Given the description of an element on the screen output the (x, y) to click on. 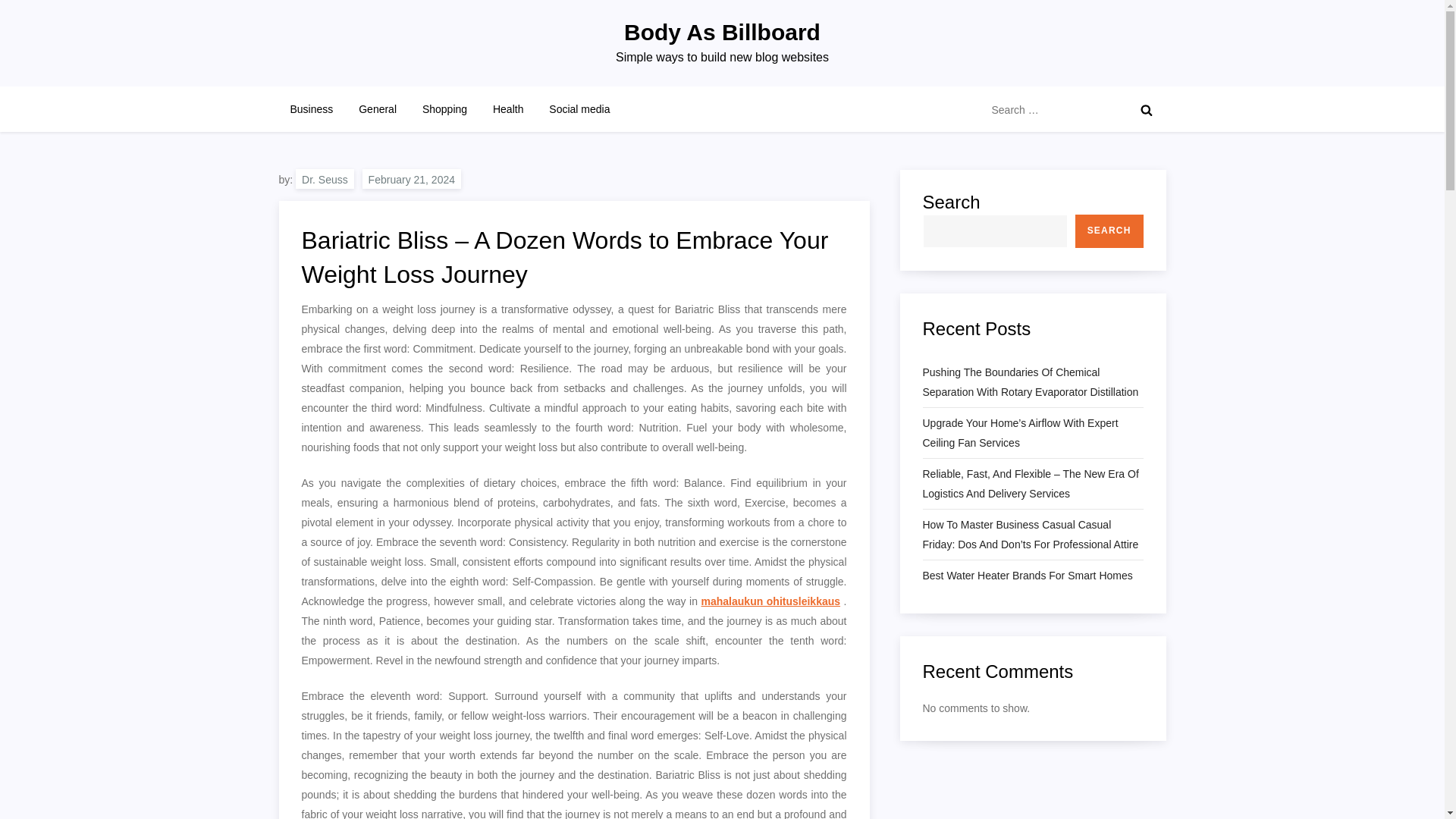
mahalaukun ohitusleikkaus (771, 601)
SEARCH (1108, 231)
Shopping (444, 108)
Business (312, 108)
Best Water Heater Brands For Smart Homes (1026, 575)
Dr. Seuss (324, 178)
Body As Billboard (722, 32)
February 21, 2024 (411, 178)
Health (507, 108)
